Given the description of an element on the screen output the (x, y) to click on. 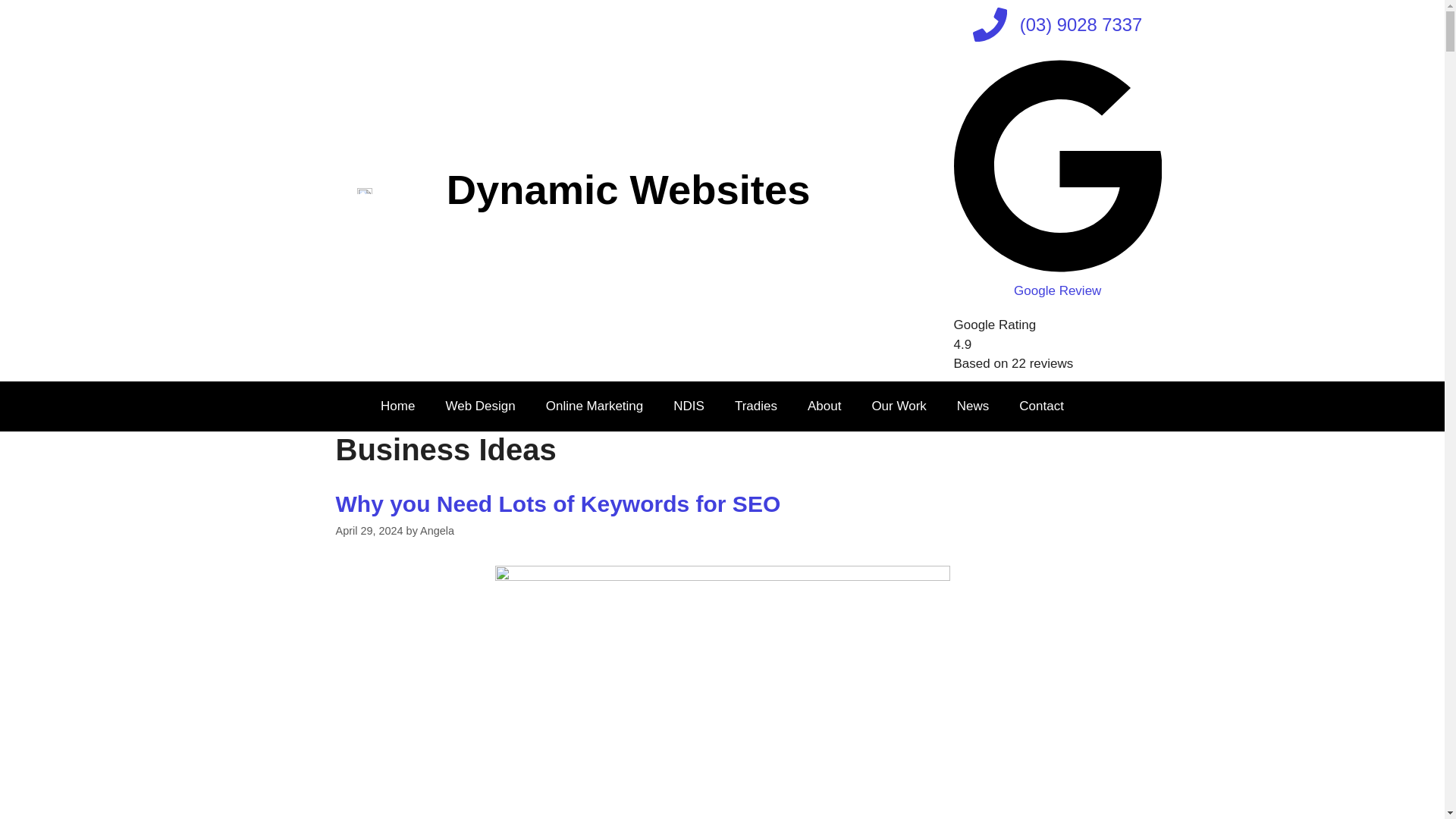
Web Design (479, 406)
Online Marketing (595, 406)
Dynamic Websites (628, 189)
Google Review (1057, 280)
Home (397, 406)
